Given the description of an element on the screen output the (x, y) to click on. 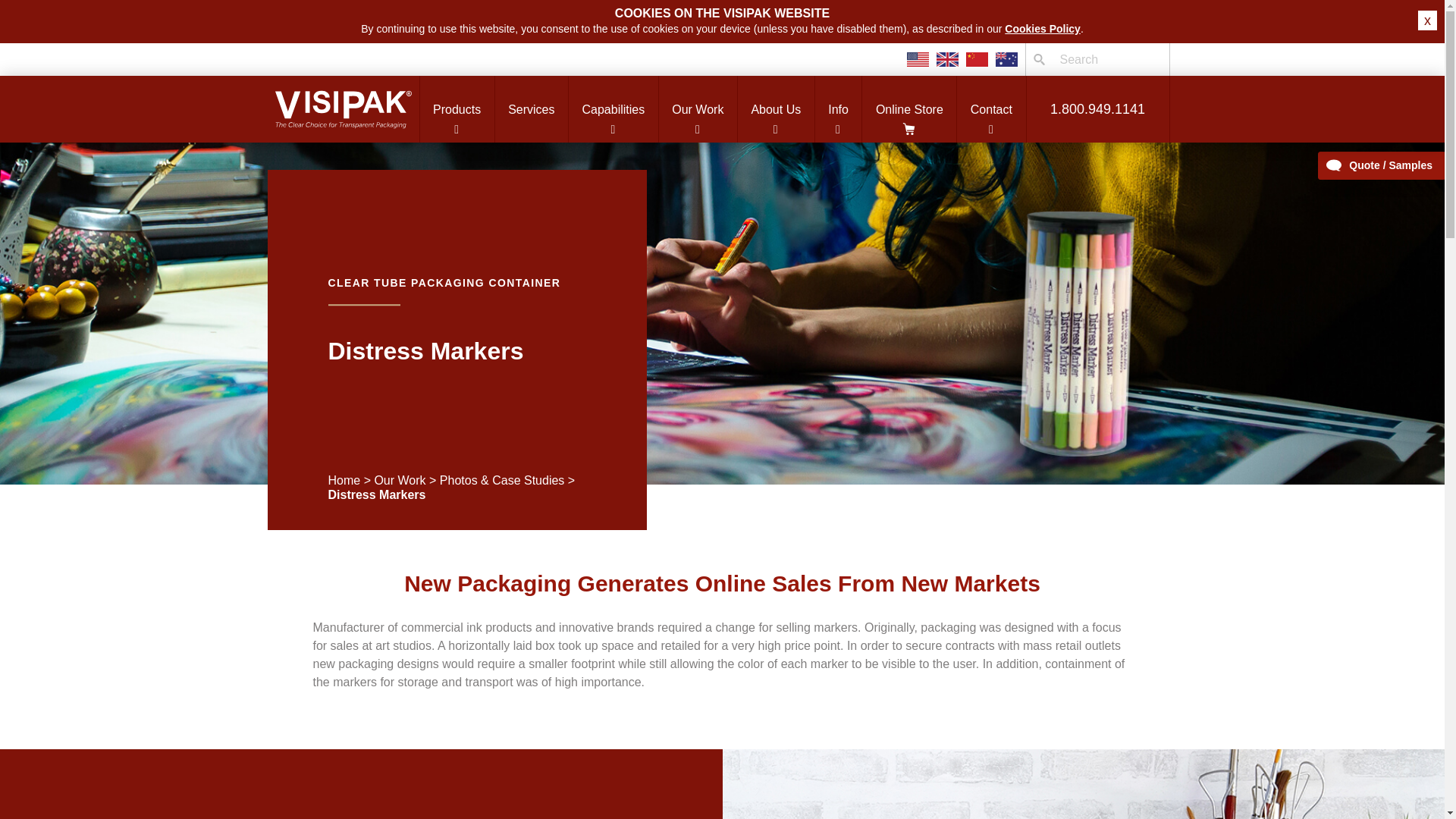
VisiPak - US (917, 59)
Products (456, 109)
StockCap - Australia (1005, 59)
